Given the description of an element on the screen output the (x, y) to click on. 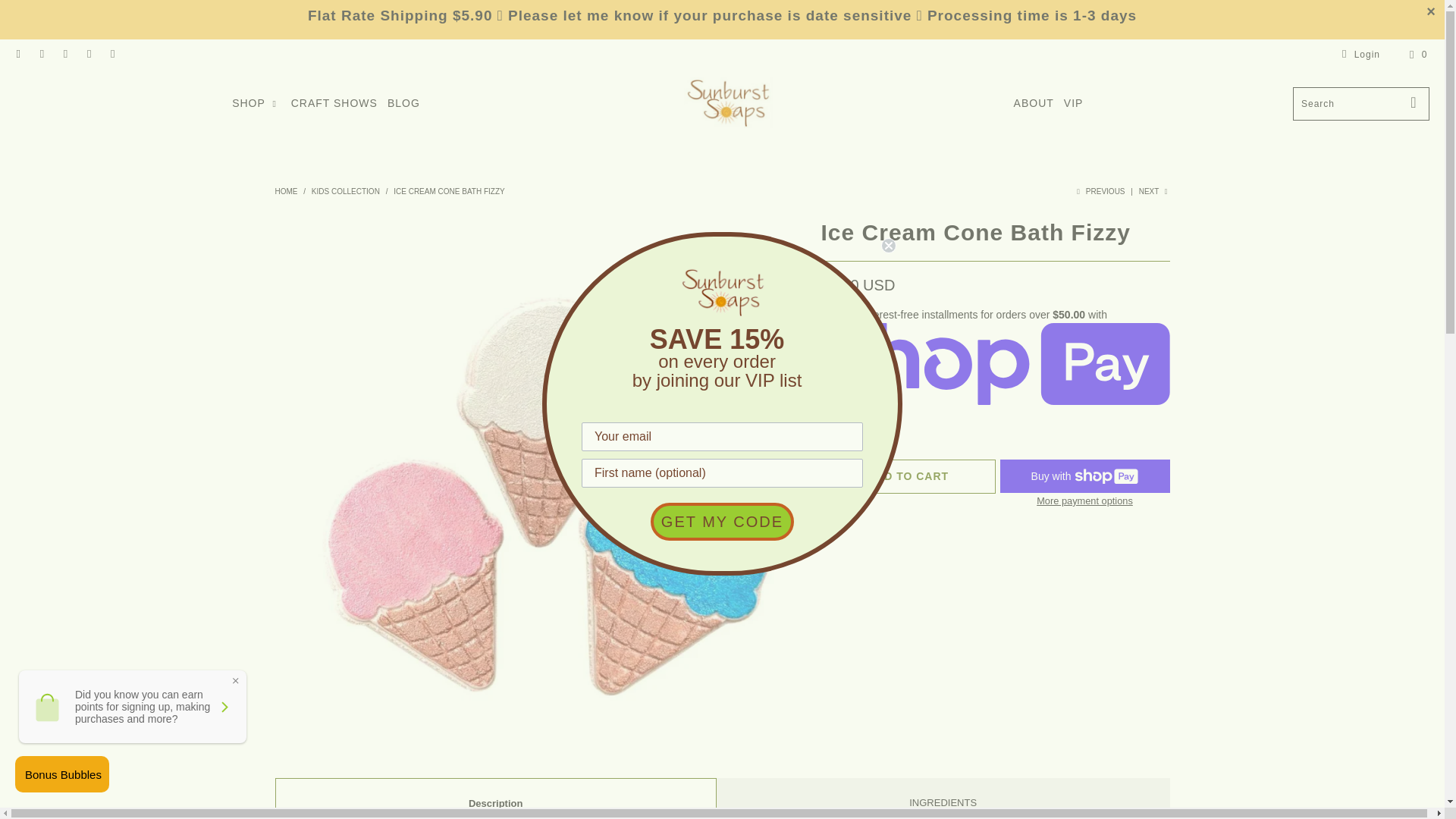
Sunburst Soaps on YouTube (41, 54)
Sunburst Soaps on Pinterest (64, 54)
Next (1154, 191)
Email Sunburst Soaps (112, 54)
Sunburst Soaps on Facebook (17, 54)
Kids Collection (345, 191)
Sunburst Soaps (727, 103)
Sunburst Soaps (286, 191)
LoyaltyLion beacon (61, 773)
Sunburst Soaps on Instagram (87, 54)
My Account  (1358, 54)
Previous (1099, 191)
